Given the description of an element on the screen output the (x, y) to click on. 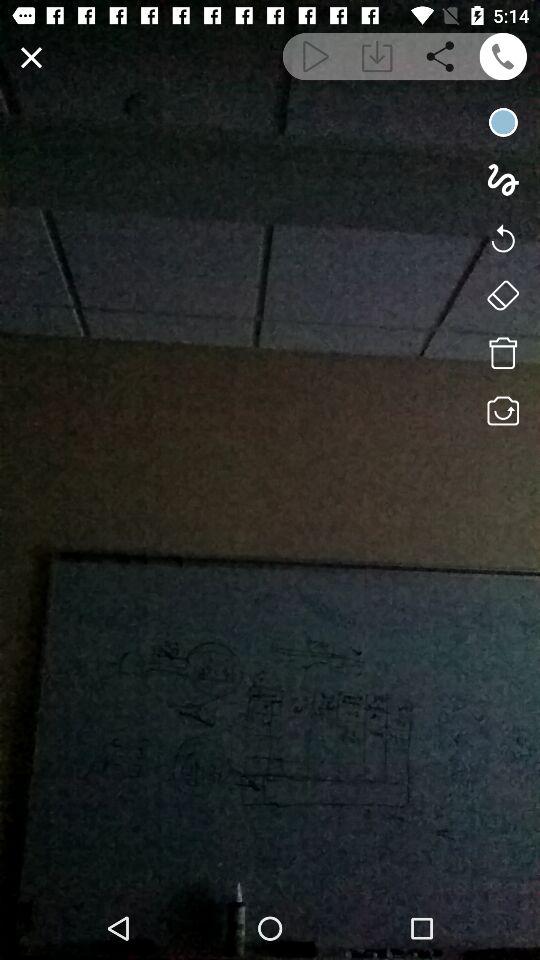
play (313, 56)
